Given the description of an element on the screen output the (x, y) to click on. 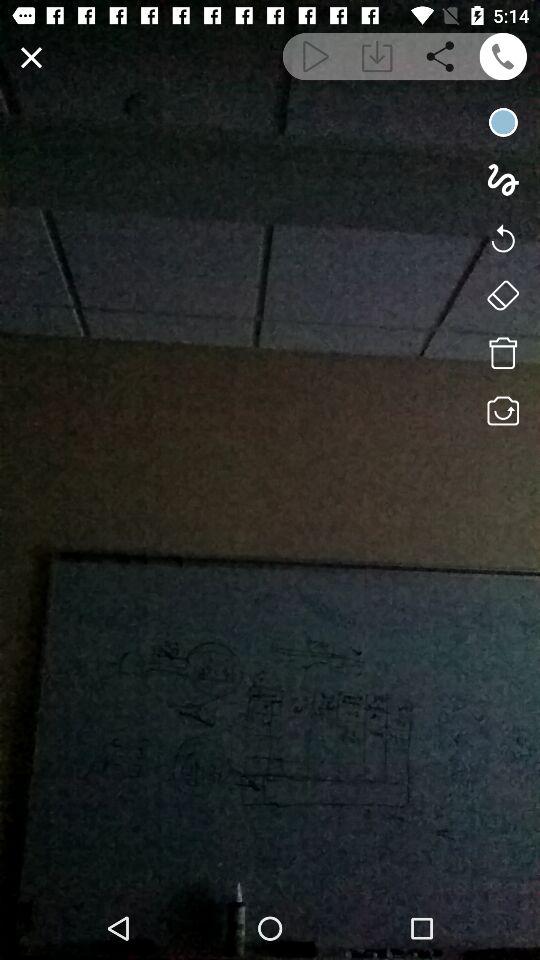
play (313, 56)
